Given the description of an element on the screen output the (x, y) to click on. 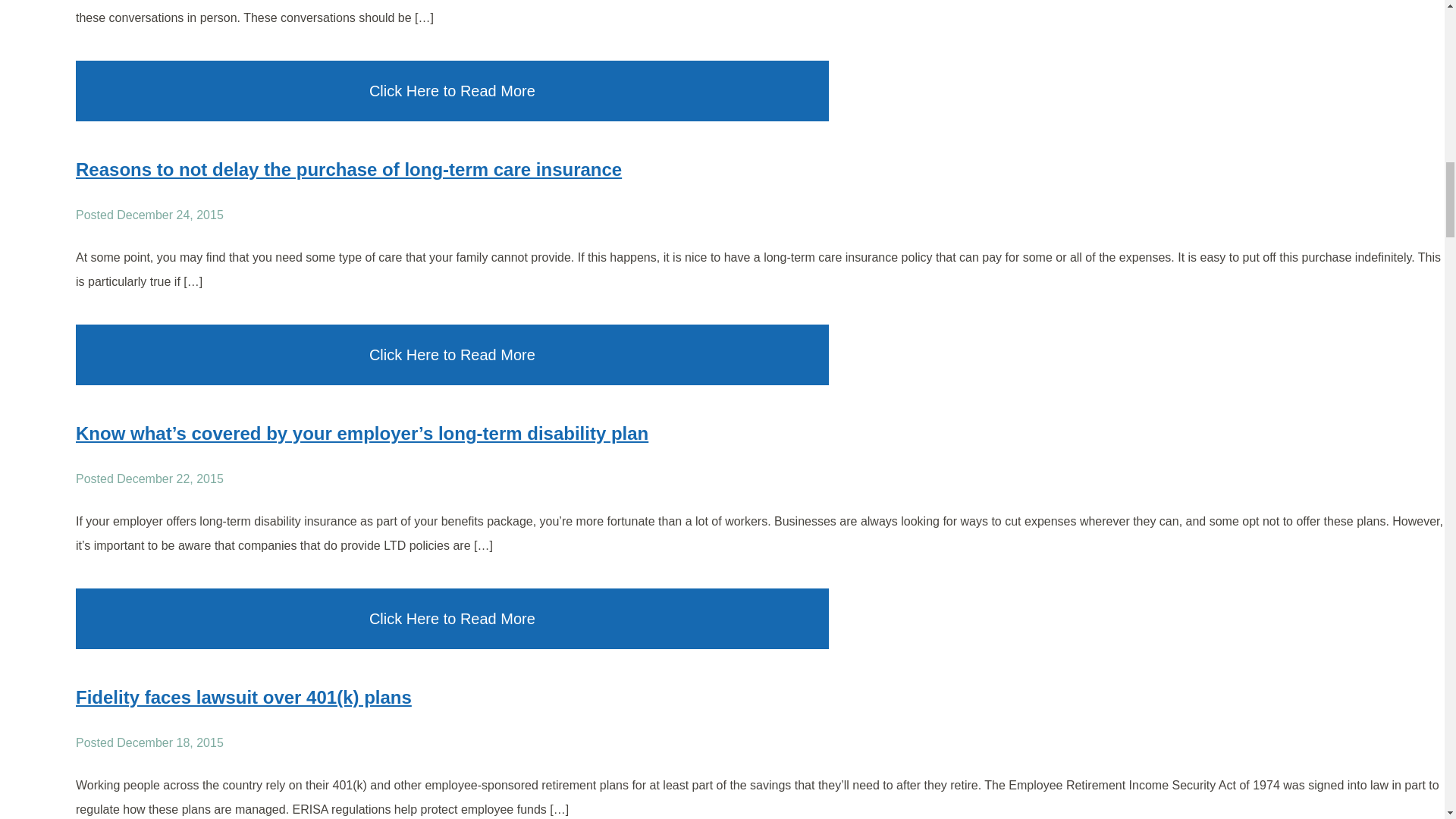
Read more (348, 168)
Read more (361, 433)
Read more (243, 697)
